Given the description of an element on the screen output the (x, y) to click on. 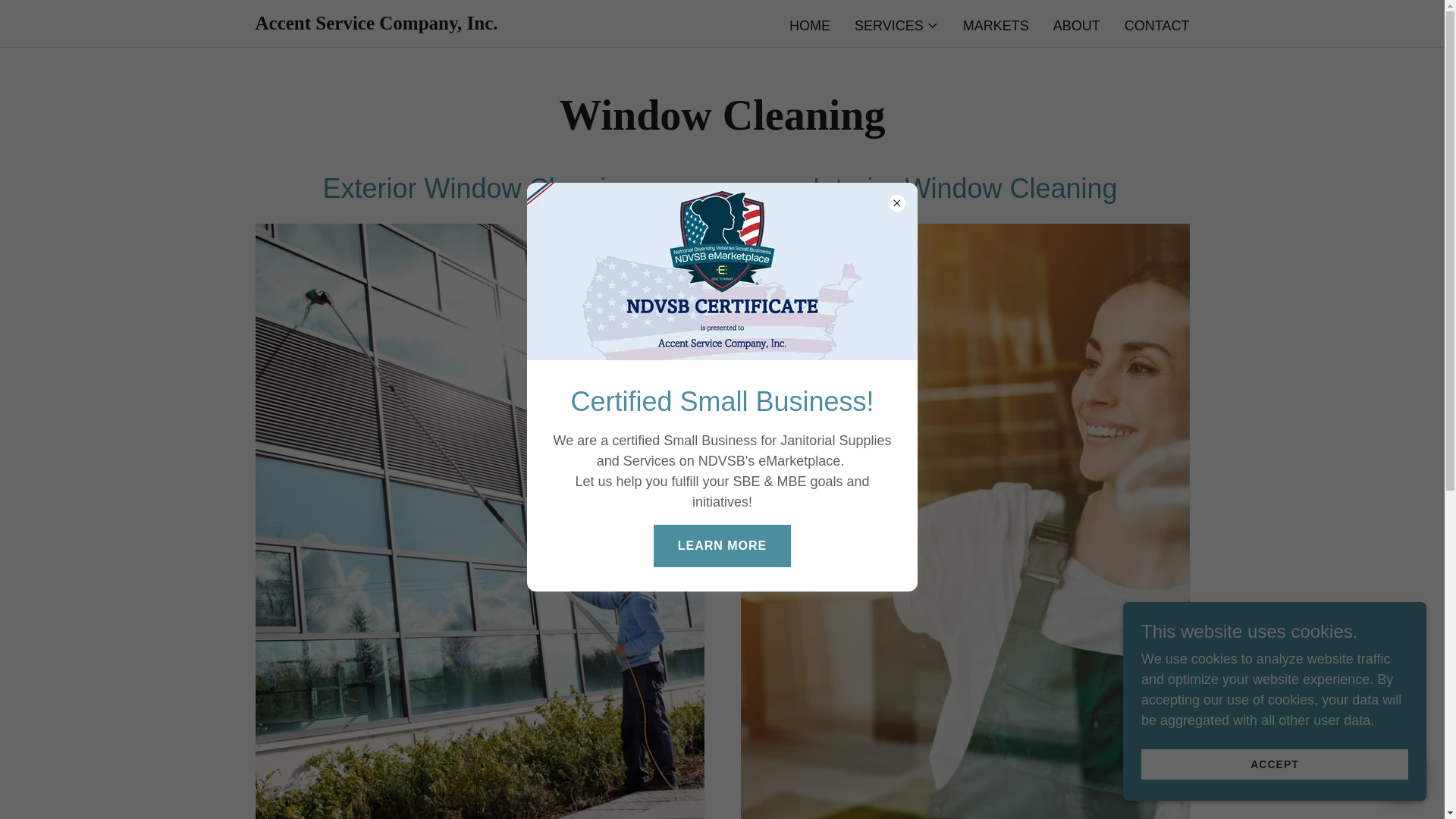
SERVICES (896, 25)
CONTACT (1156, 25)
MARKETS (995, 25)
Accent Service Company, Inc. (375, 24)
HOME (375, 24)
ABOUT (809, 25)
